Given the description of an element on the screen output the (x, y) to click on. 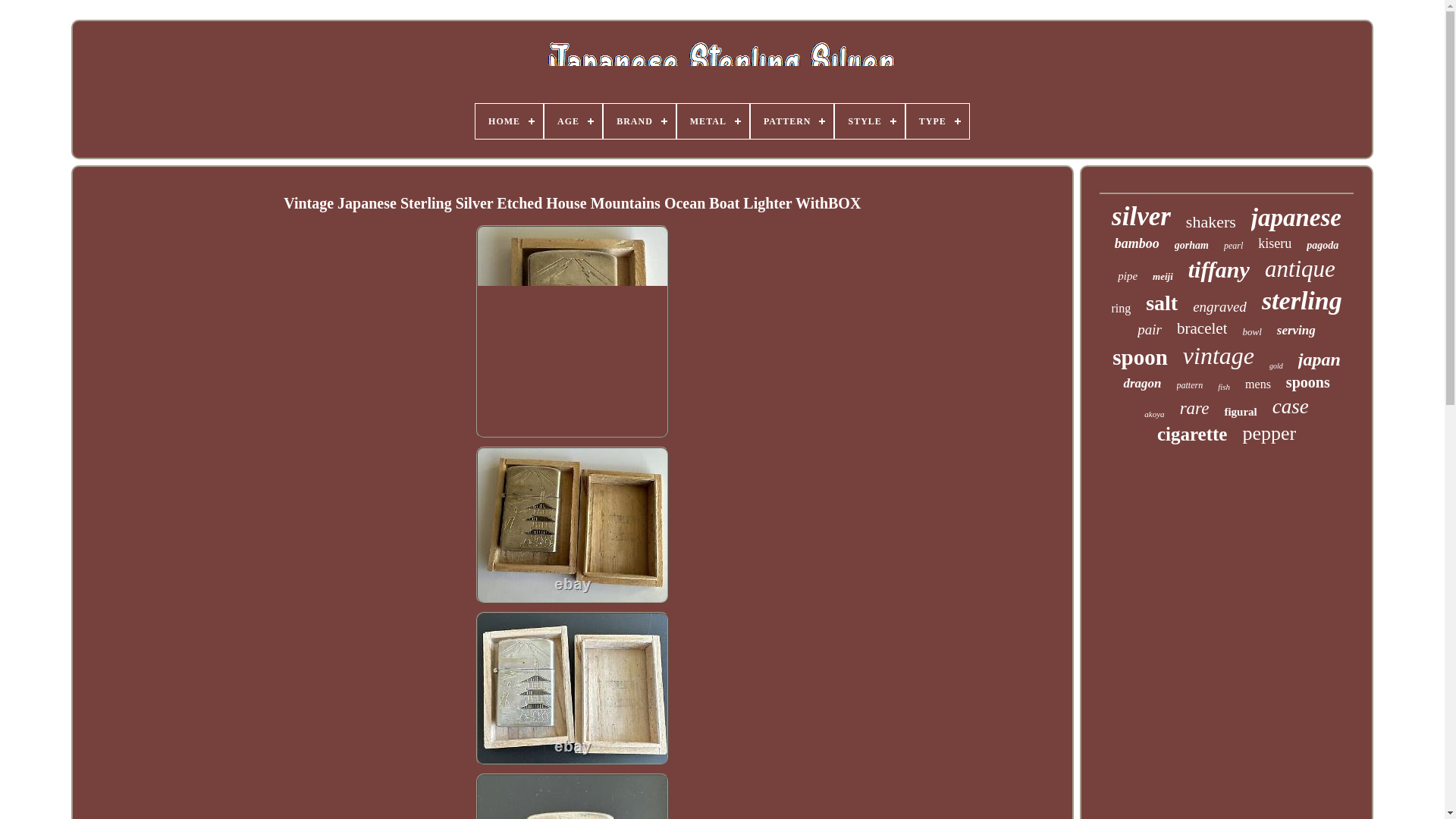
HOME (509, 121)
BRAND (639, 121)
AGE (573, 121)
